Given the description of an element on the screen output the (x, y) to click on. 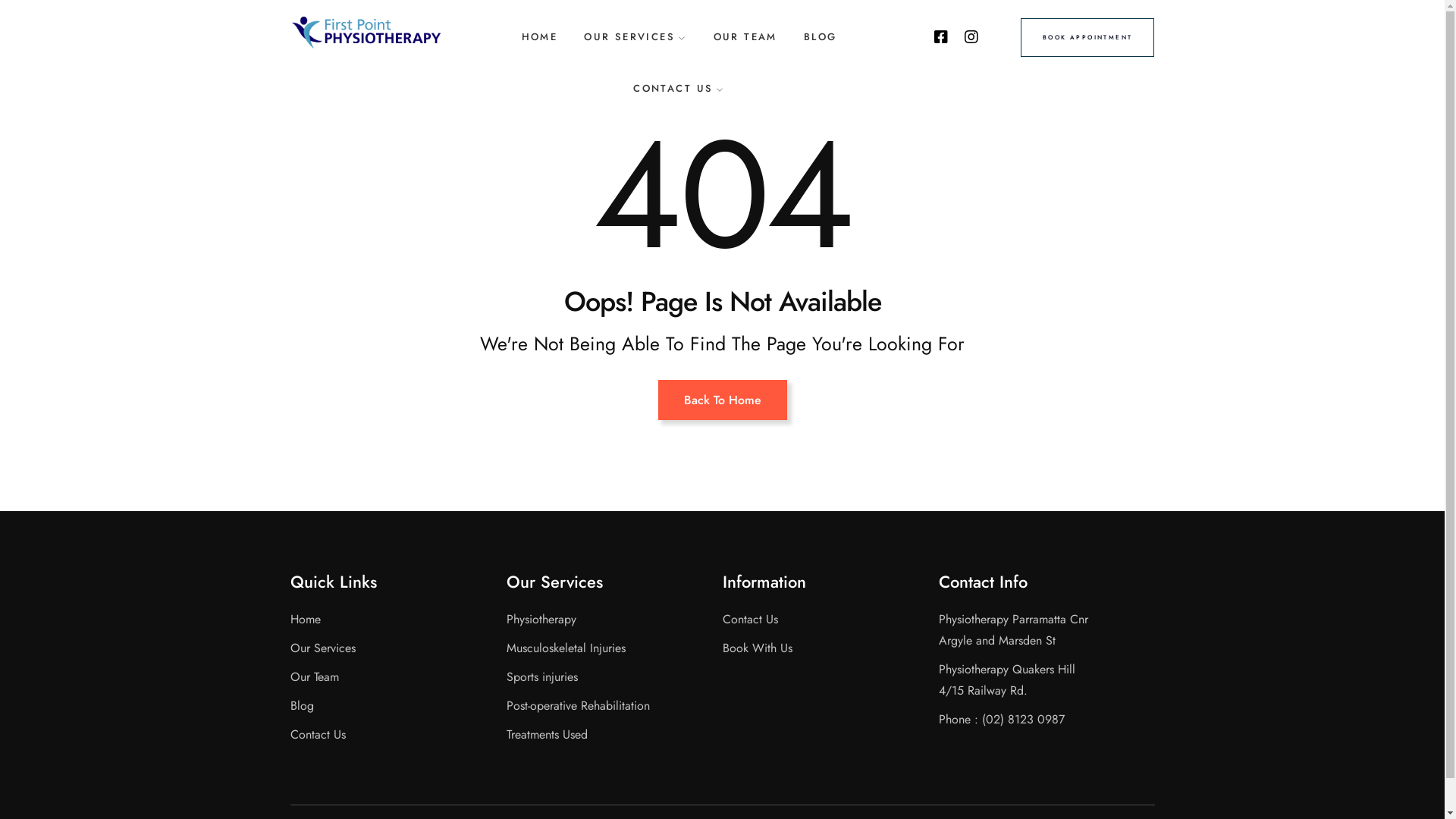
Blog Element type: text (301, 704)
Our Team Element type: text (313, 676)
Contact Us Element type: text (749, 618)
Treatments Used Element type: text (546, 733)
CONTACT US Element type: text (678, 88)
OUR TEAM Element type: text (745, 36)
OUR SERVICES Element type: text (634, 36)
Contact Us Element type: text (317, 733)
Book With Us Element type: text (756, 647)
Back To Home Element type: text (722, 399)
HOME Element type: text (539, 36)
Physiotherapy Element type: text (541, 618)
Our Services Element type: text (321, 647)
Sports injuries Element type: text (541, 676)
Post-operative Rehabilitation Element type: text (577, 704)
BOOK APPOINTMENT Element type: text (1087, 37)
Musculoskeletal Injuries Element type: text (565, 647)
BLOG Element type: text (820, 36)
Phone : (02) 8123 0987 Element type: text (1001, 718)
Home Element type: text (304, 618)
